Given the description of an element on the screen output the (x, y) to click on. 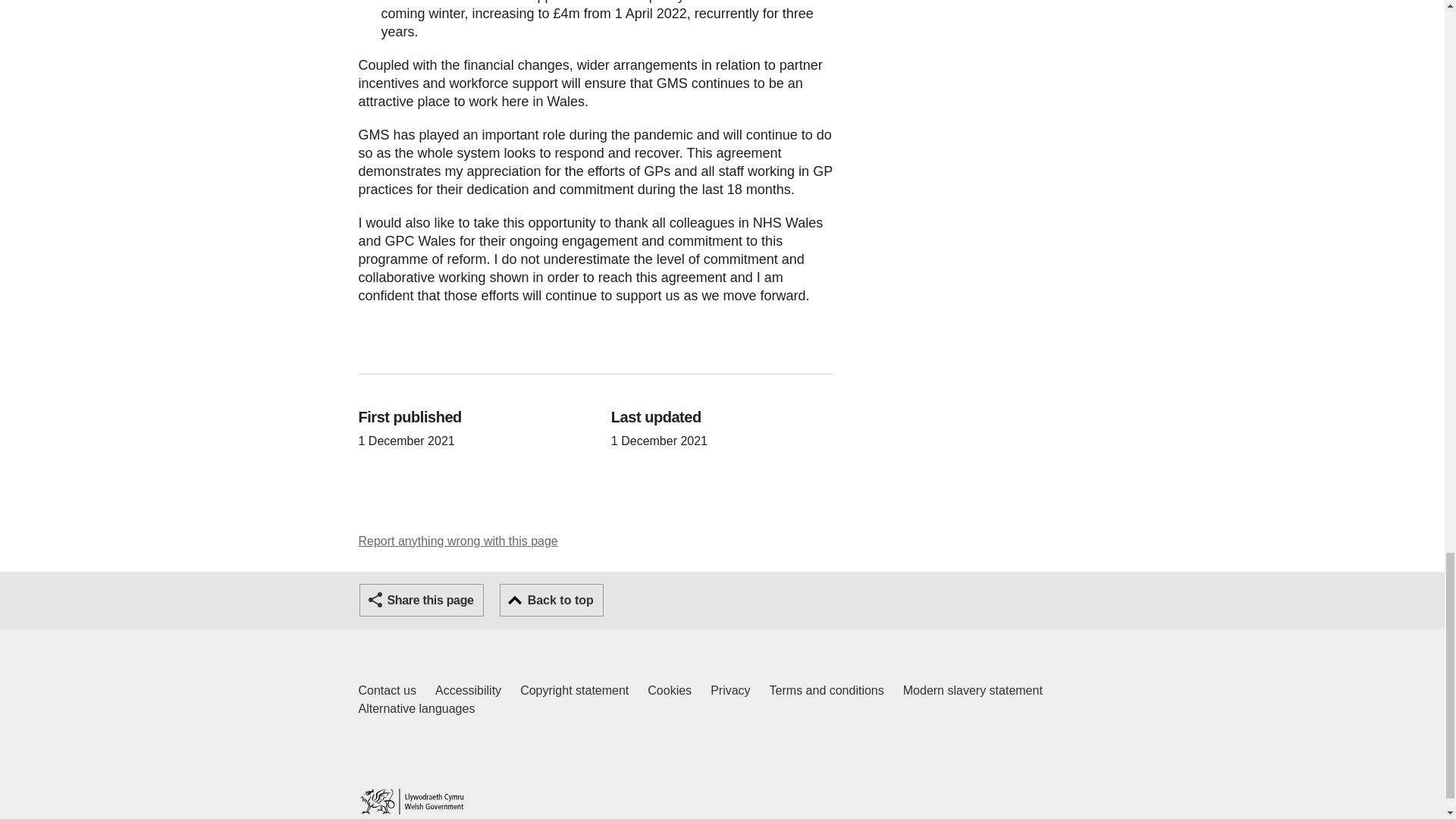
Accessibility (467, 690)
Report anything wrong with this page (457, 540)
Terms and conditions (826, 690)
Alternative languages (416, 709)
Privacy (729, 690)
Back to top (551, 599)
Modern slavery statement (972, 690)
Copyright statement (573, 690)
Home (411, 801)
Cookies (386, 690)
Share this page (669, 690)
